Given the description of an element on the screen output the (x, y) to click on. 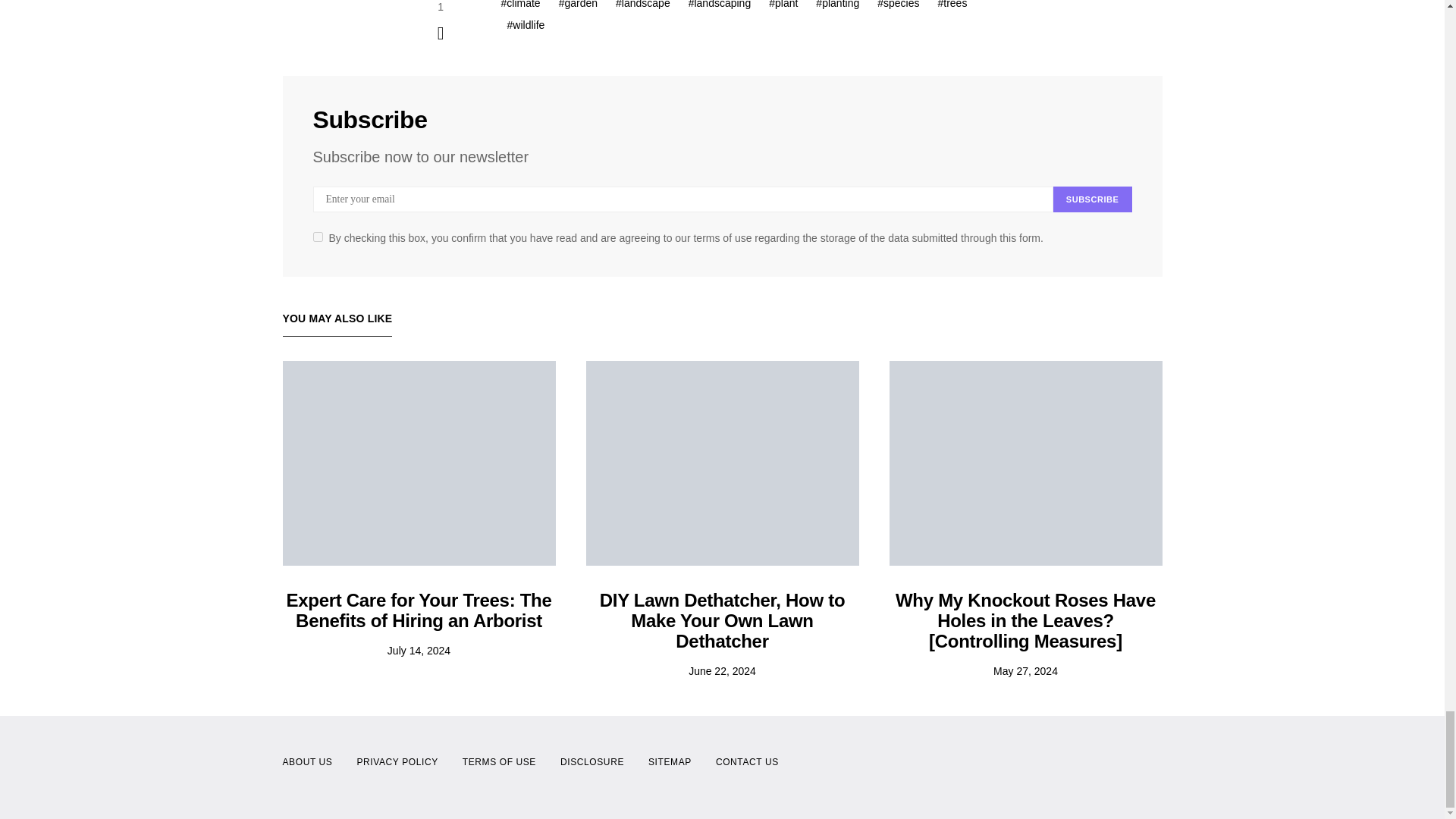
on (317, 236)
